Given the description of an element on the screen output the (x, y) to click on. 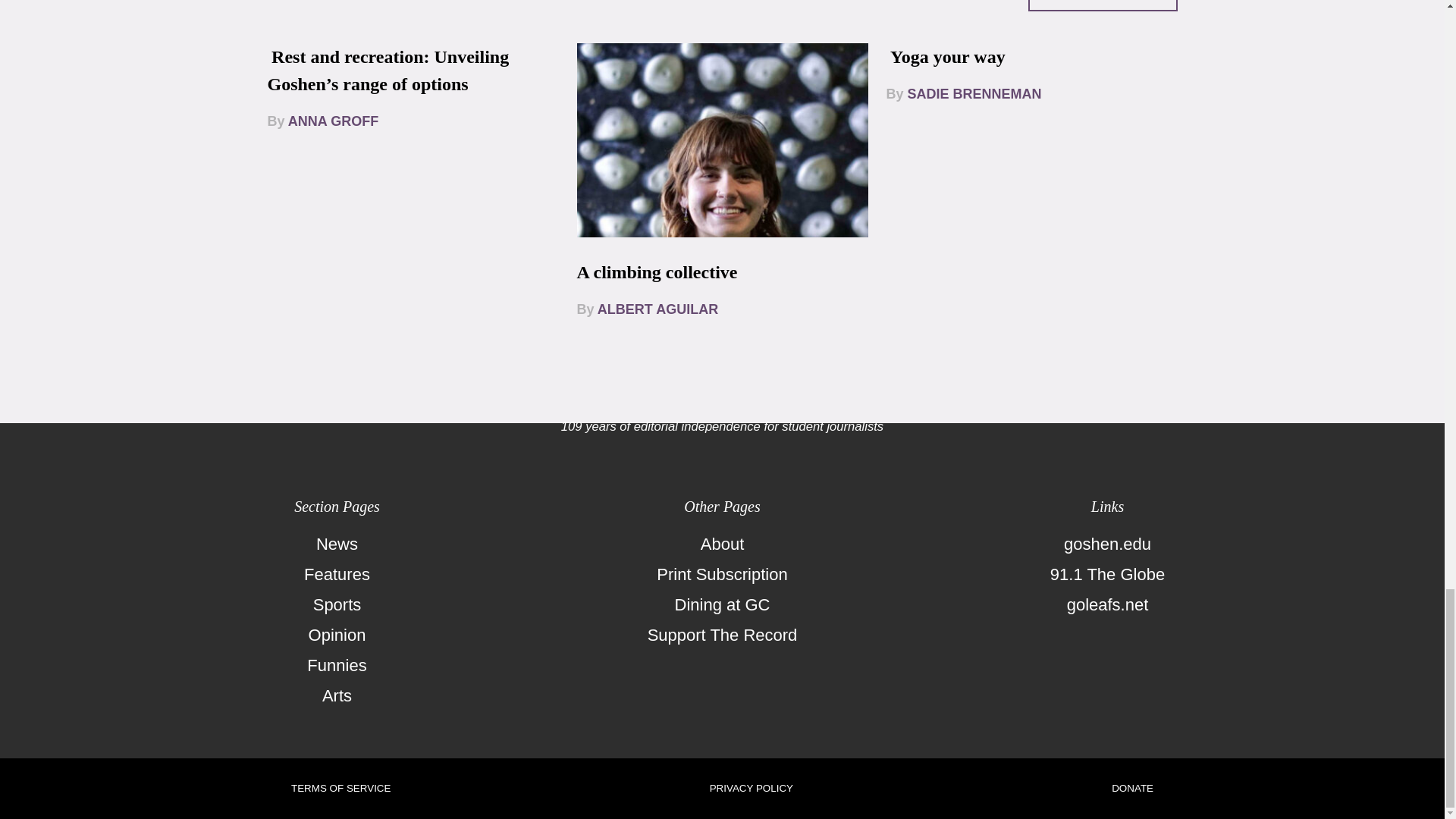
A climbing collective (656, 271)
News (336, 544)
SADIE BRENNEMAN (974, 93)
Print Subscription (722, 574)
Arts (336, 695)
ANNA GROFF (333, 120)
Opinion (336, 634)
MORE STORIES (1102, 5)
Yoga your way (947, 56)
Sports (336, 604)
About (722, 544)
ALBERT AGUILAR (656, 309)
Funnies (336, 665)
Features (336, 574)
